Given the description of an element on the screen output the (x, y) to click on. 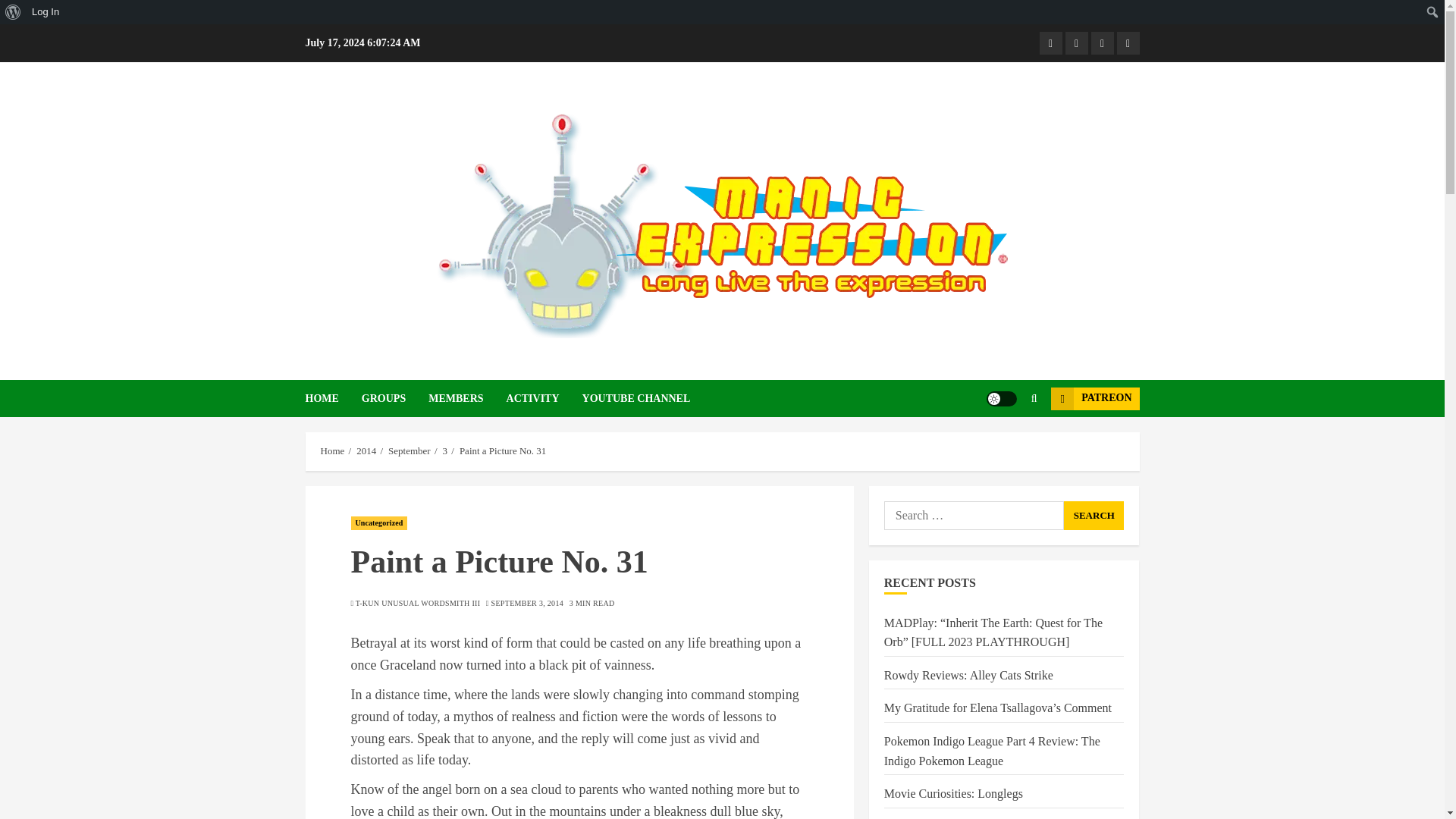
Log In (45, 12)
SEPTEMBER 3, 2014 (527, 603)
Tiktok Manic Expression page (1101, 42)
ACTIVITY (544, 398)
Facebook page (1050, 42)
Twitter (1127, 42)
PATREON (1094, 397)
Home (331, 451)
YOUTUBE CHANNEL (636, 398)
GROUPS (394, 398)
Paint a Picture No. 31 (503, 451)
Search (1004, 443)
September (409, 451)
T-KUN UNUSUAL WORDSMITH III (417, 603)
Search (1094, 515)
